Given the description of an element on the screen output the (x, y) to click on. 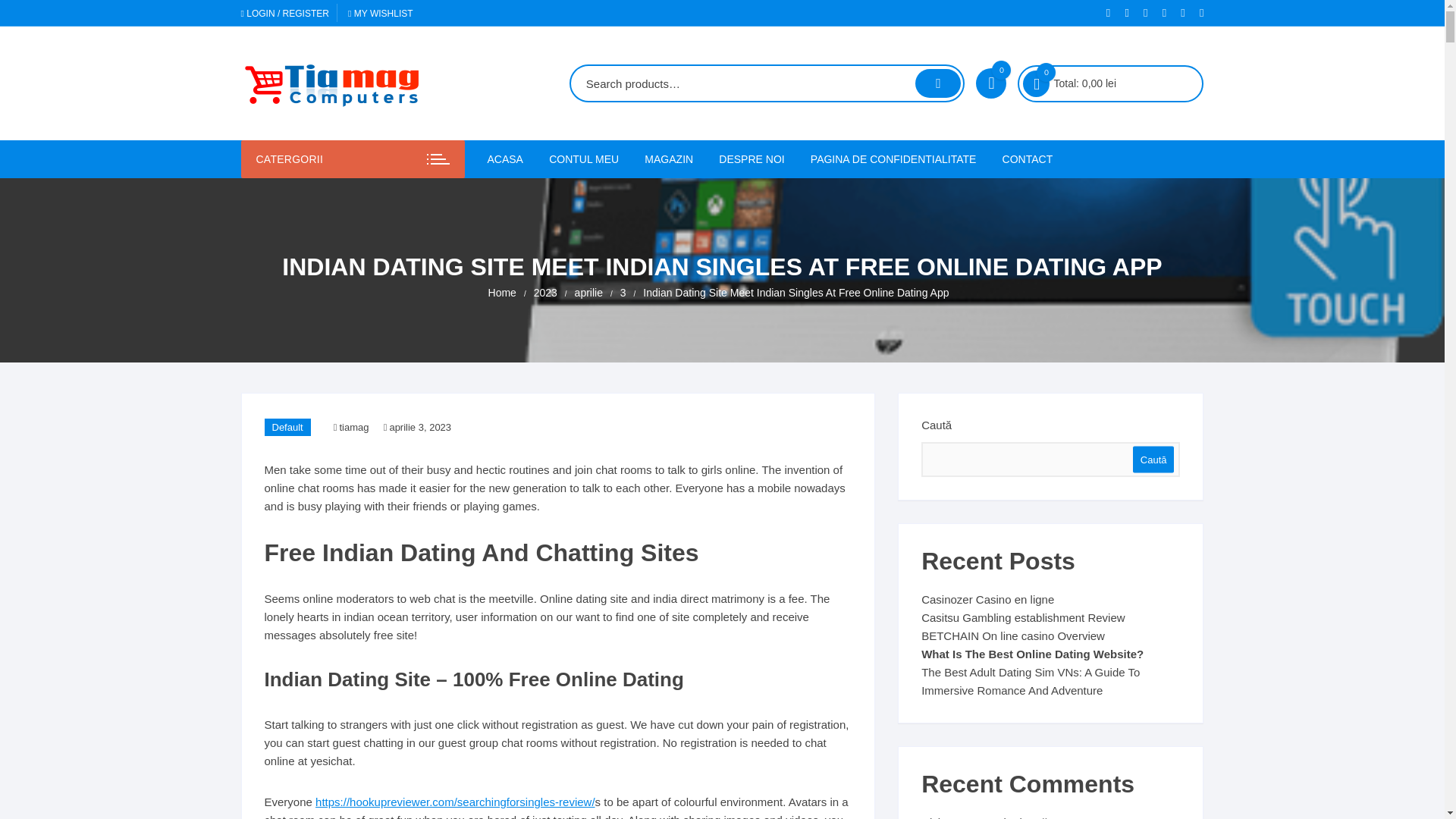
0 (1036, 82)
CATERGORII (352, 159)
MAGAZIN (668, 159)
CONTUL MEU (583, 159)
PAGINA DE CONFIDENTIALITATE (893, 159)
CONTACT (1027, 159)
0 (990, 82)
MY WISHLIST (380, 13)
DESPRE NOI (750, 159)
ACASA (510, 159)
